Given the description of an element on the screen output the (x, y) to click on. 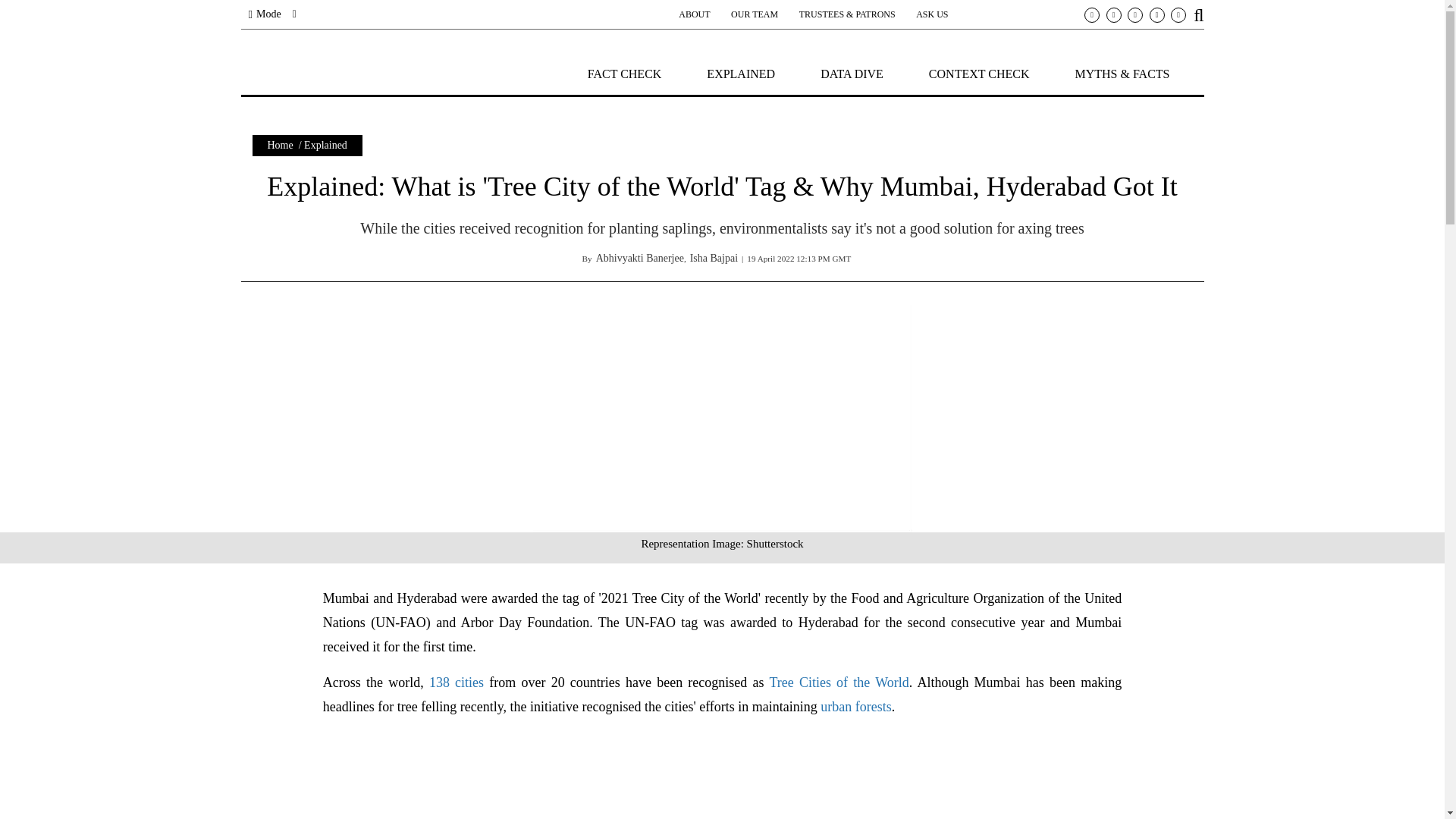
ABOUT (694, 14)
OUR TEAM (753, 14)
EXPLAINED (740, 73)
FACT CHECK (625, 73)
CONTEXT CHECK (978, 73)
DATA DIVE (852, 73)
ASK US (931, 14)
